Given the description of an element on the screen output the (x, y) to click on. 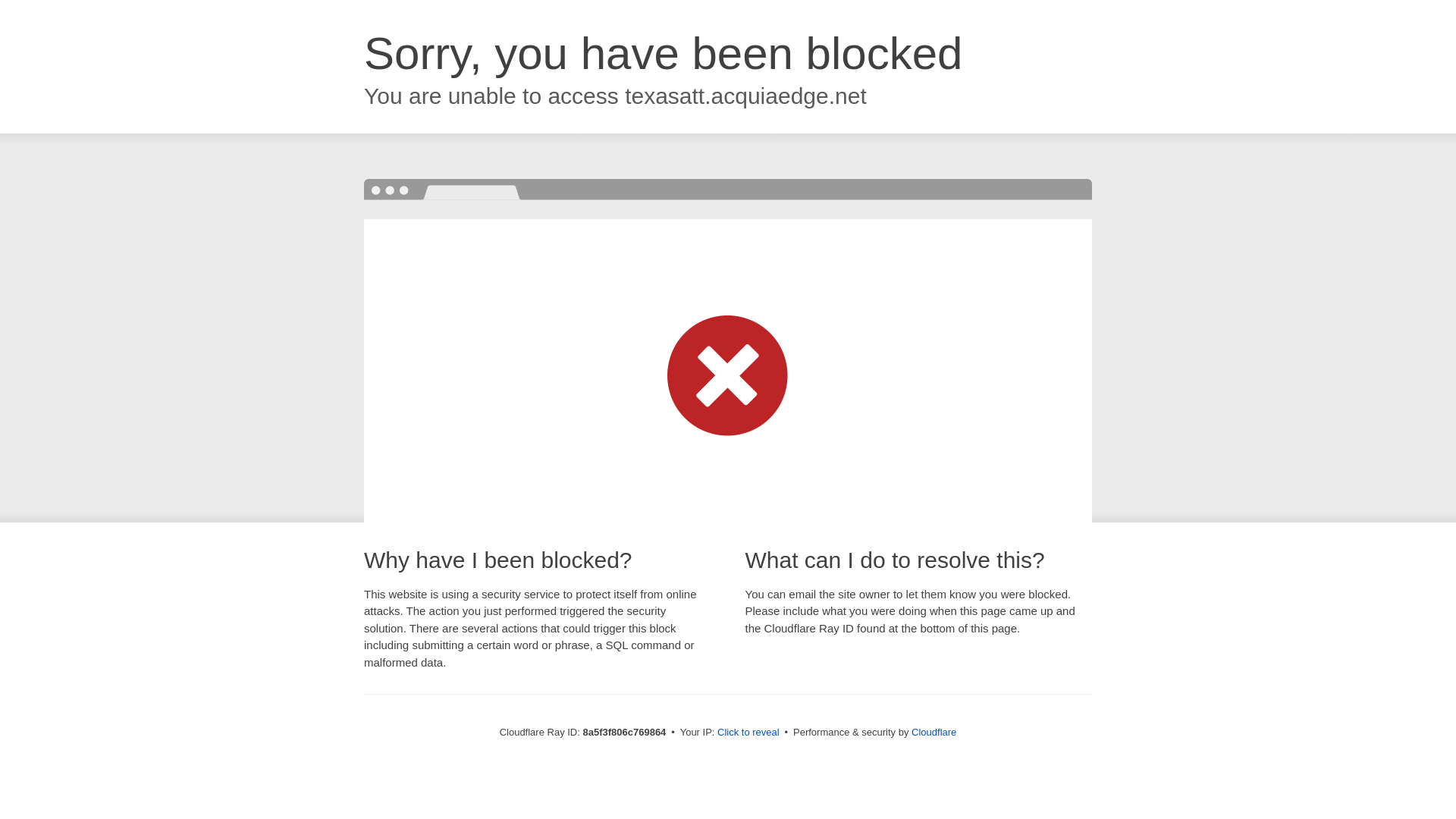
Click to reveal (747, 732)
Cloudflare (933, 731)
